Given the description of an element on the screen output the (x, y) to click on. 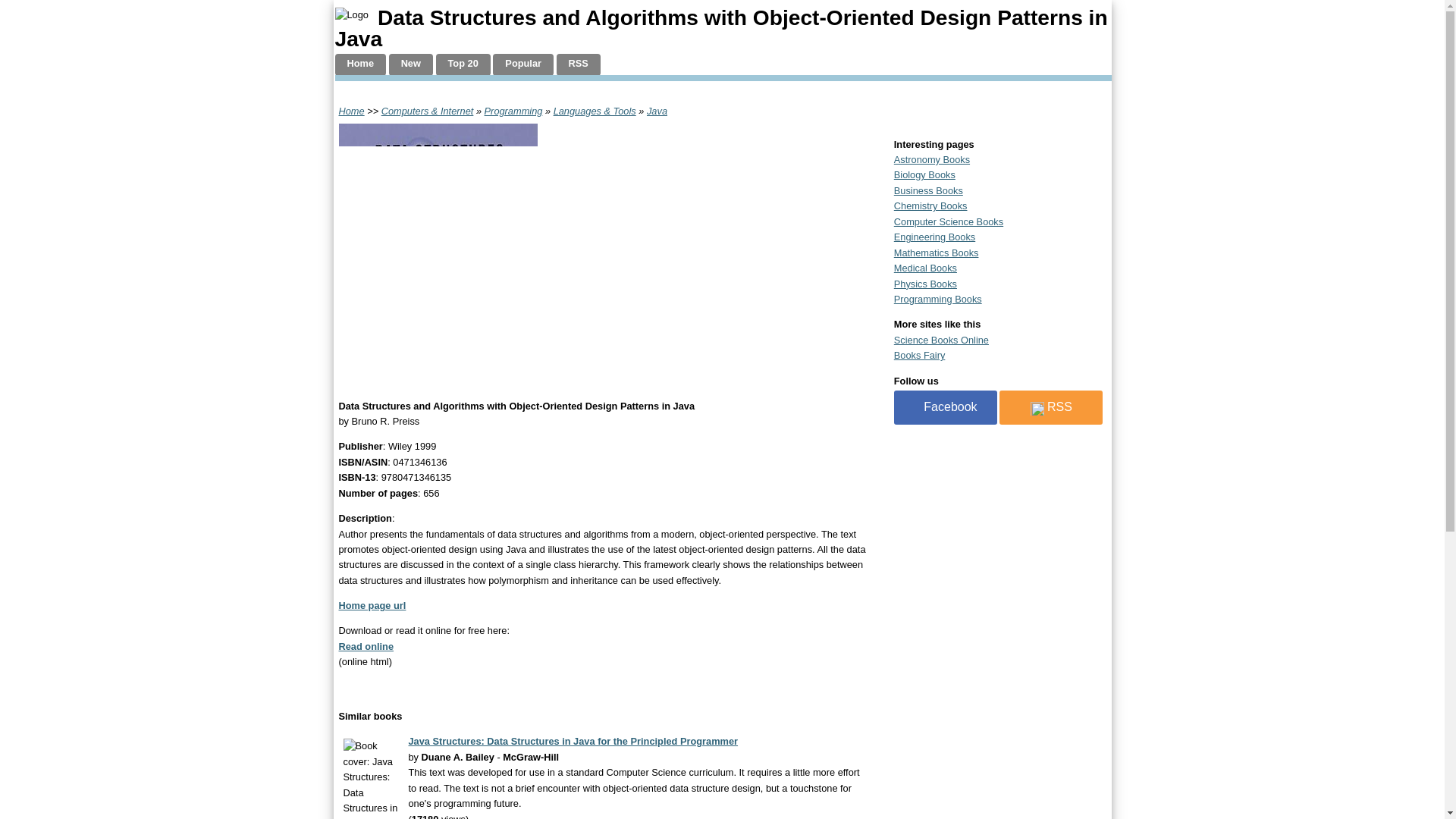
Popular (523, 65)
New (410, 65)
Home (360, 65)
Top 20 (462, 65)
Programming (513, 110)
RSS (577, 65)
Home (350, 110)
Home page url (371, 604)
Java (656, 110)
Read online (365, 645)
